Given the description of an element on the screen output the (x, y) to click on. 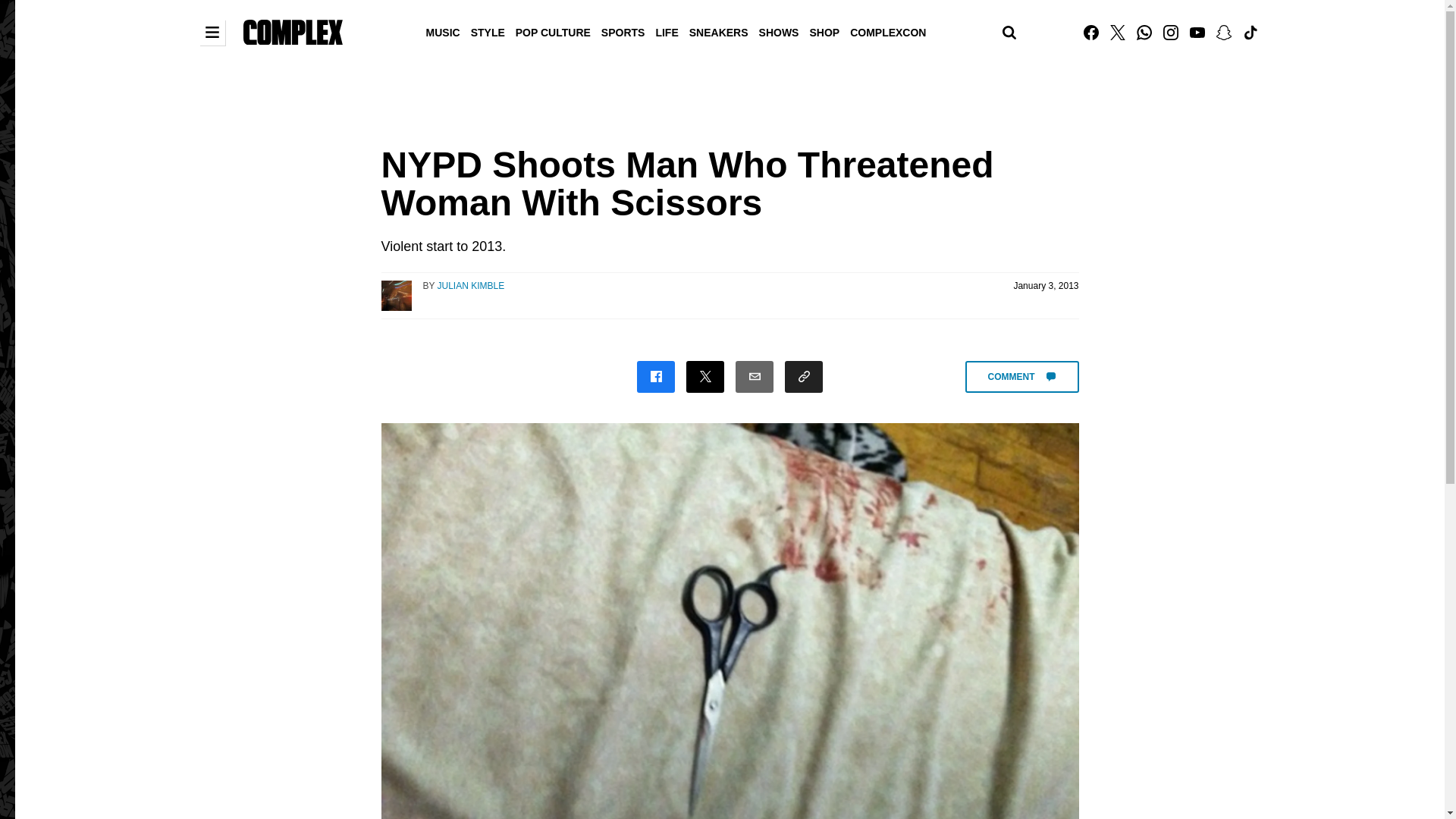
SNEAKERS (719, 30)
LIFE (665, 30)
SHOP (823, 30)
POP CULTURE (553, 30)
MUSIC (442, 30)
SPORTS (622, 30)
STYLE (488, 30)
COMPLEXCON (887, 30)
SHOWS (779, 30)
